Given the description of an element on the screen output the (x, y) to click on. 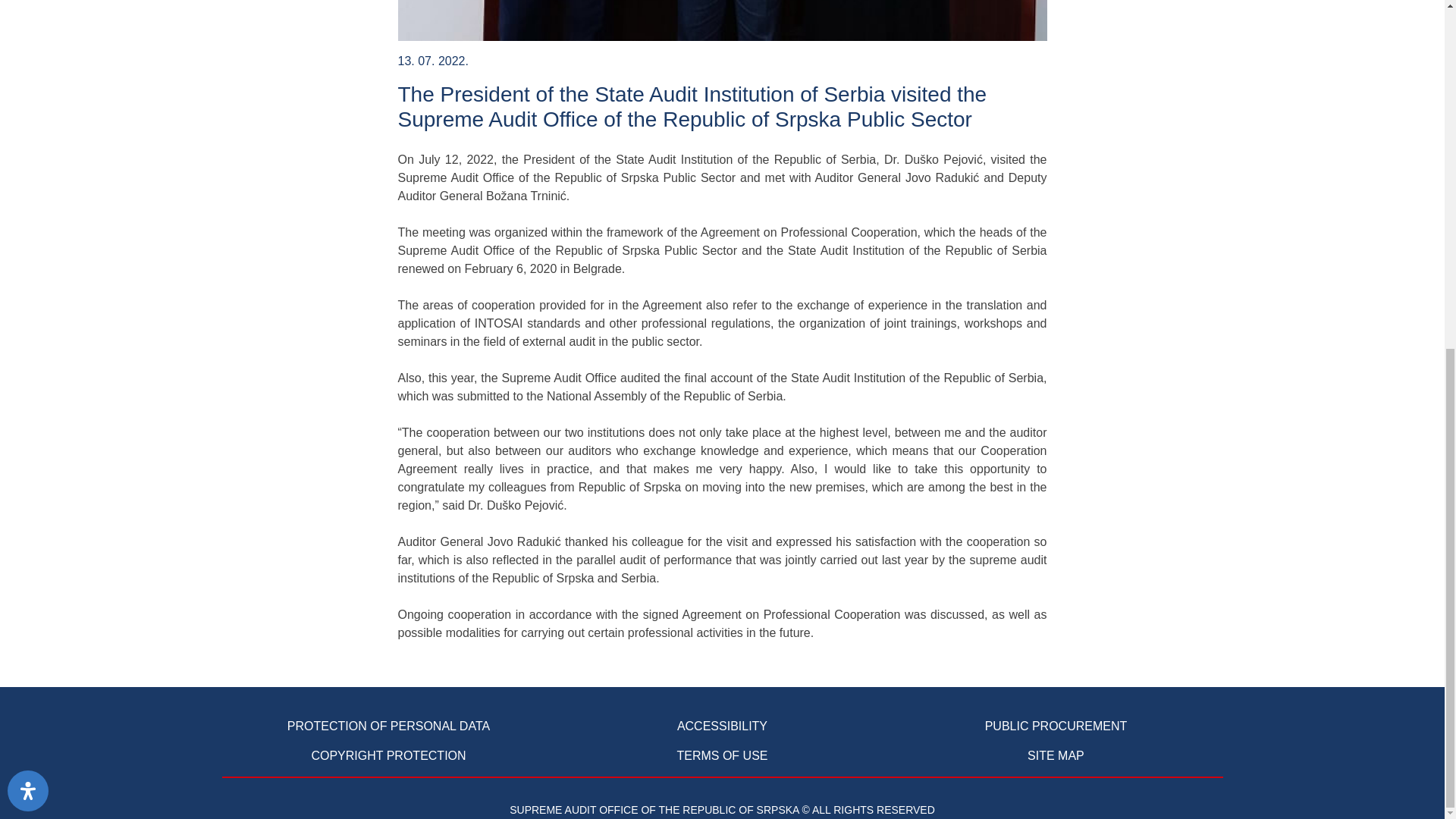
Accessibility (27, 188)
